Given the description of an element on the screen output the (x, y) to click on. 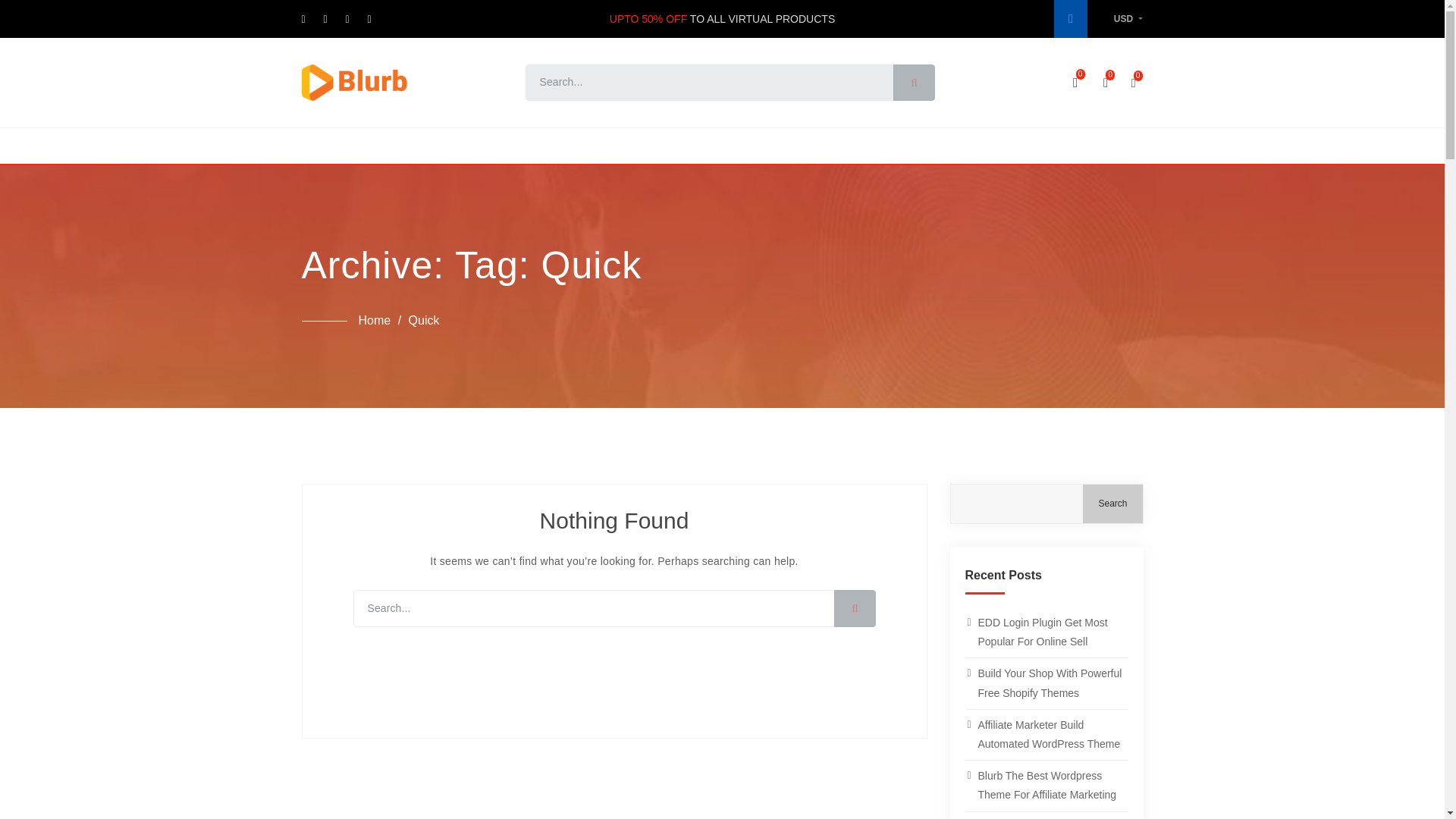
Are You Looking For Multi Vendor Store Theme (1044, 815)
USD (1127, 19)
Home (374, 321)
Search (1112, 503)
Blurb The Best Wordpress Theme For Affiliate Marketing (1044, 785)
Build Your Shop With Powerful Free Shopify Themes (1044, 683)
Affiliate Marketer Build Automated WordPress Theme (1044, 735)
EDD Login Plugin Get Most Popular For Online Sell (1044, 632)
